Given the description of an element on the screen output the (x, y) to click on. 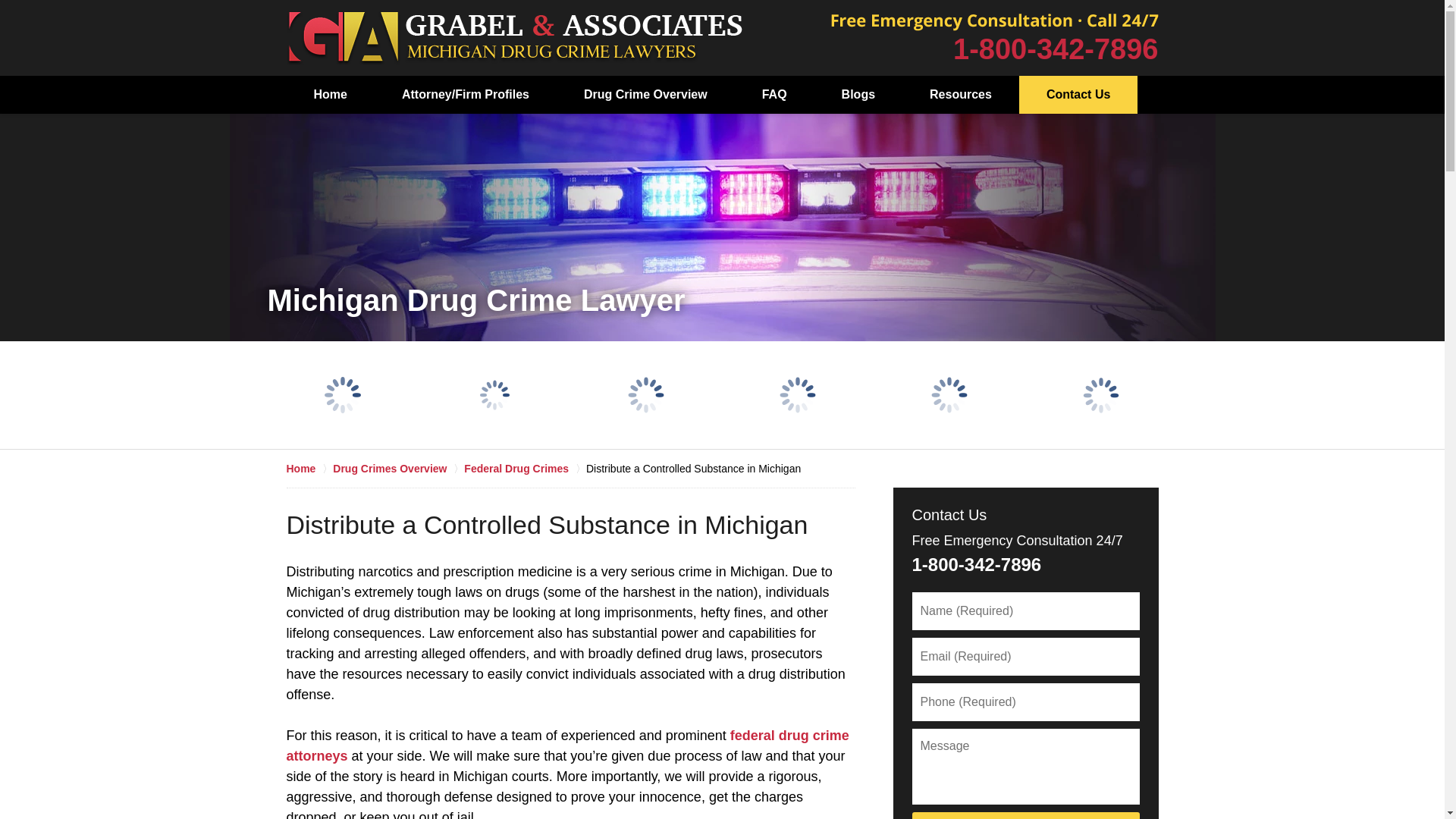
Drug Crimes Overview (398, 468)
Contact Us (1078, 94)
Back to Home (514, 37)
Home (330, 94)
1-800-342-7896 (1055, 49)
Federal Drug Crimes (525, 468)
federal drug crime attorneys (567, 745)
Blogs (857, 94)
FAQ (774, 94)
Drug Crime Overview (645, 94)
